Given the description of an element on the screen output the (x, y) to click on. 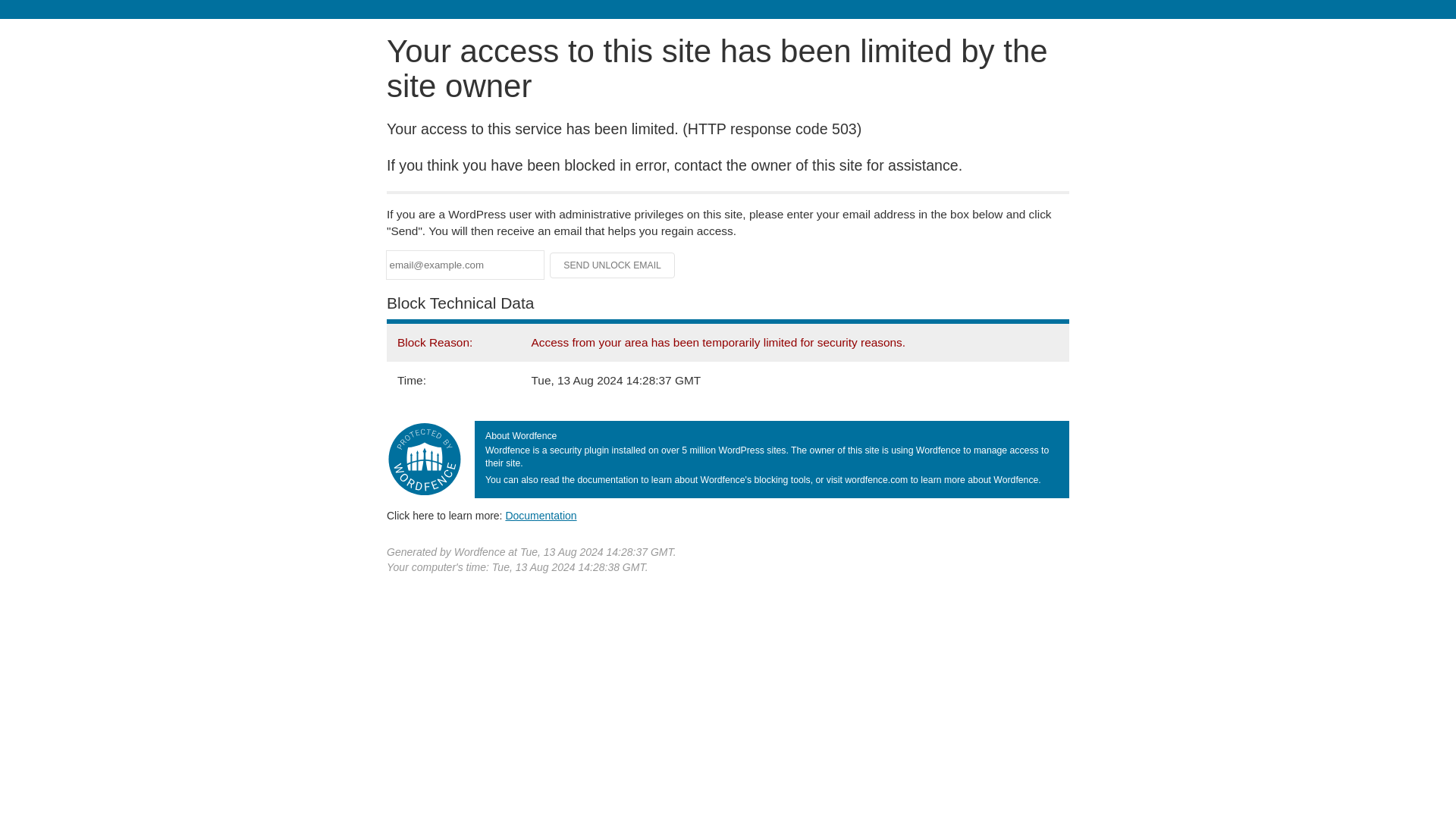
Documentation (540, 515)
Send Unlock Email (612, 265)
Send Unlock Email (612, 265)
